Given the description of an element on the screen output the (x, y) to click on. 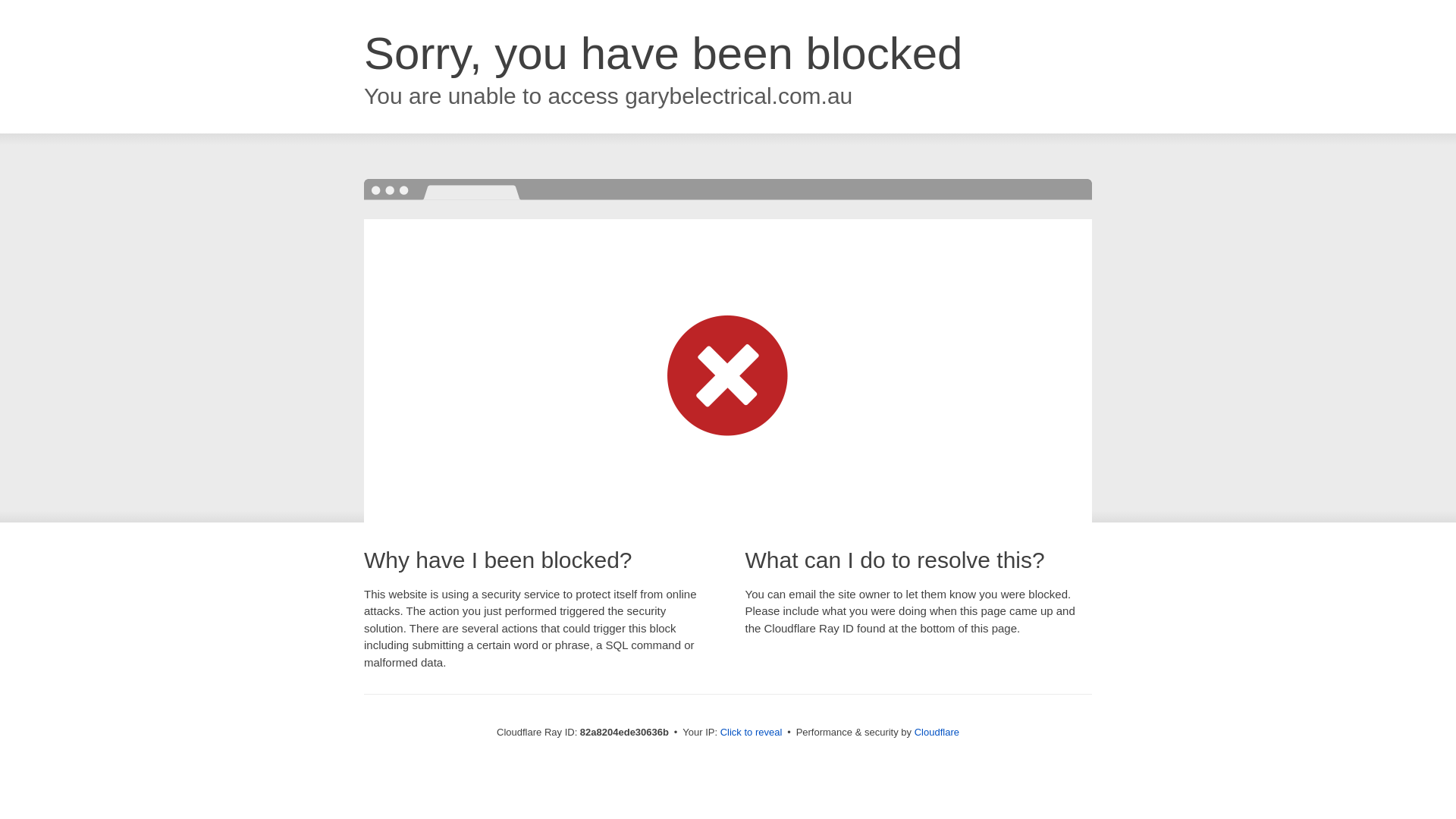
Cloudflare Element type: text (936, 731)
Click to reveal Element type: text (751, 732)
